Given the description of an element on the screen output the (x, y) to click on. 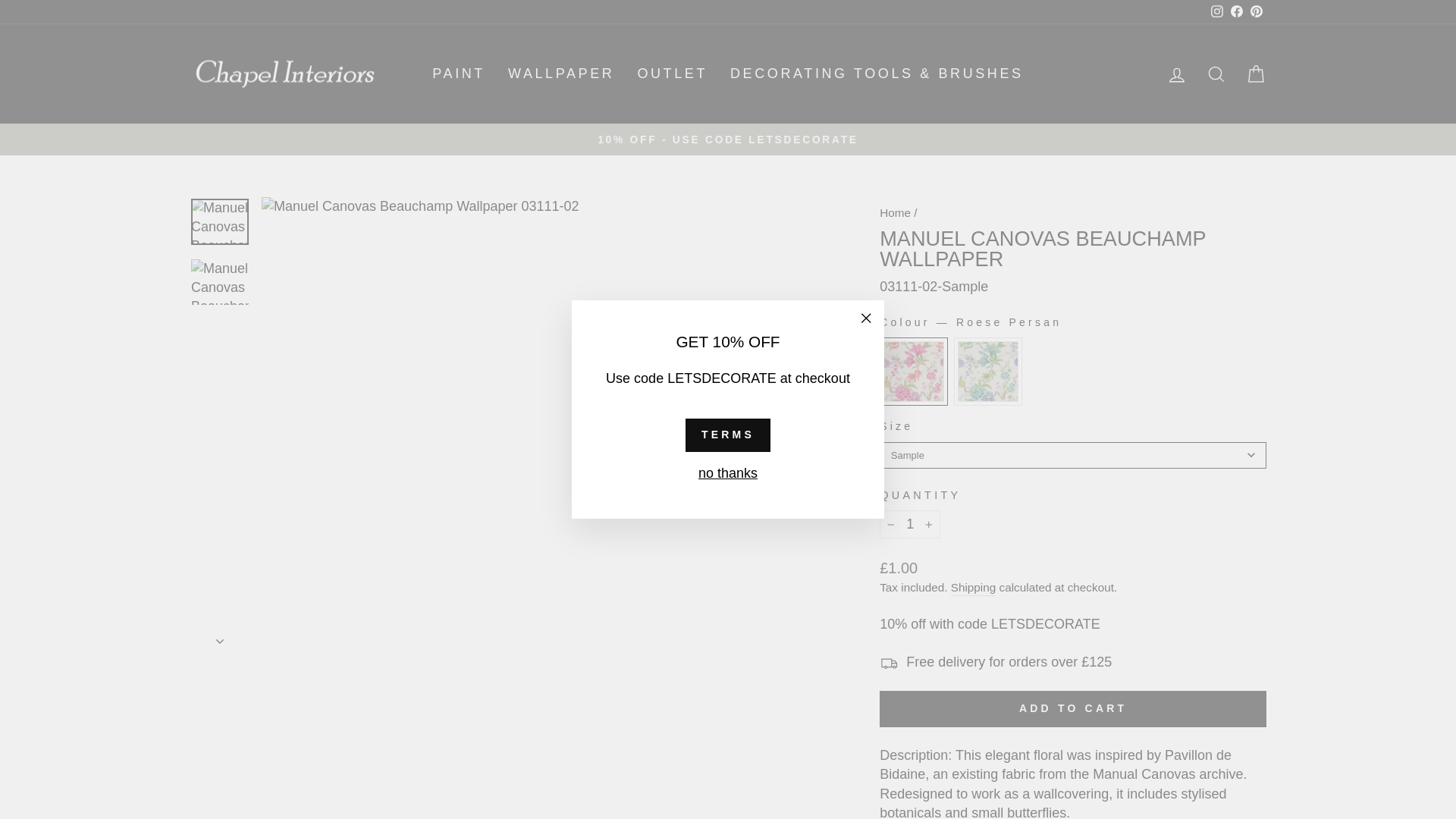
Back to the frontpage (895, 212)
1 (909, 524)
